Given the description of an element on the screen output the (x, y) to click on. 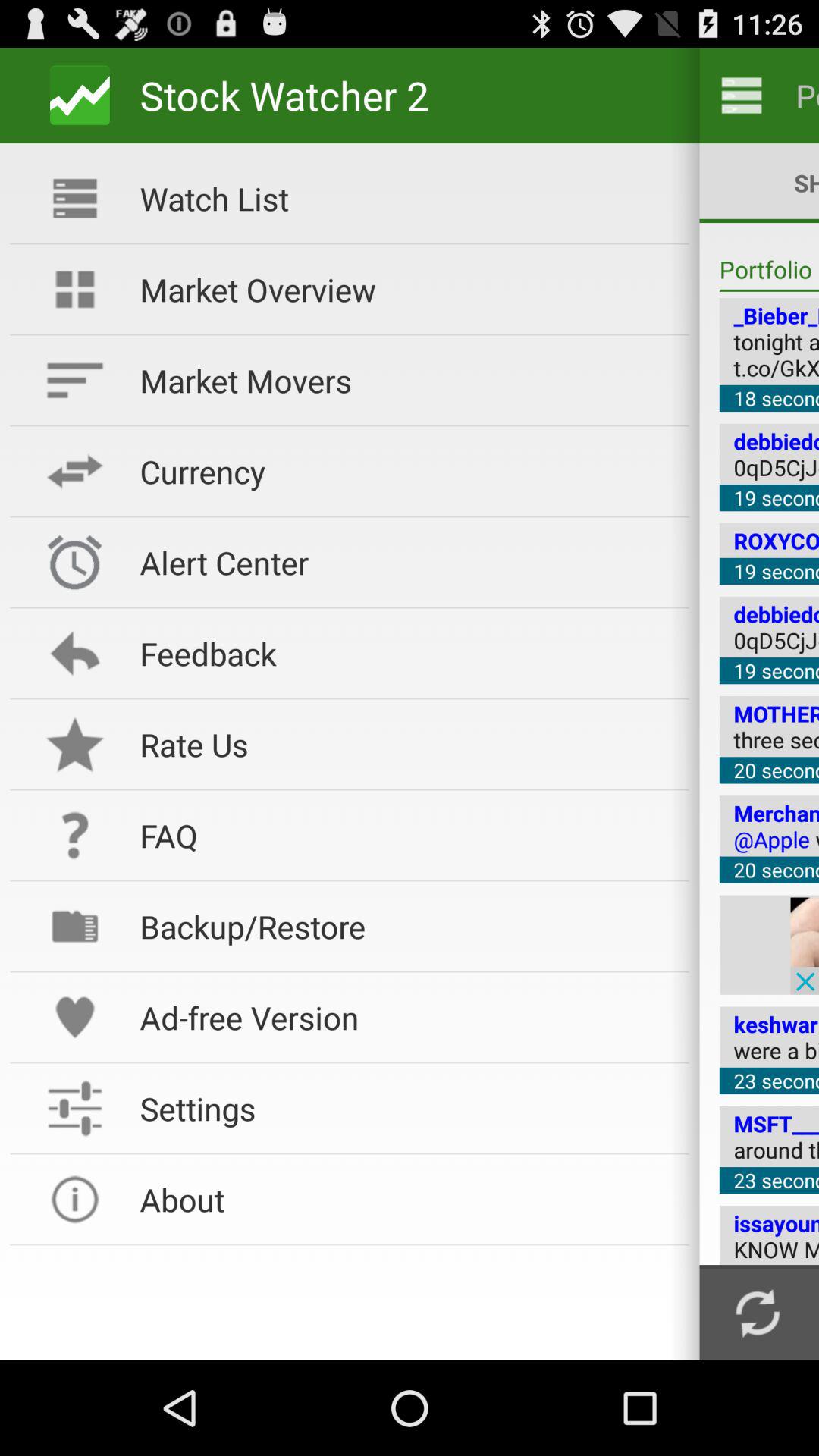
advertising pop up banner (804, 944)
